Given the description of an element on the screen output the (x, y) to click on. 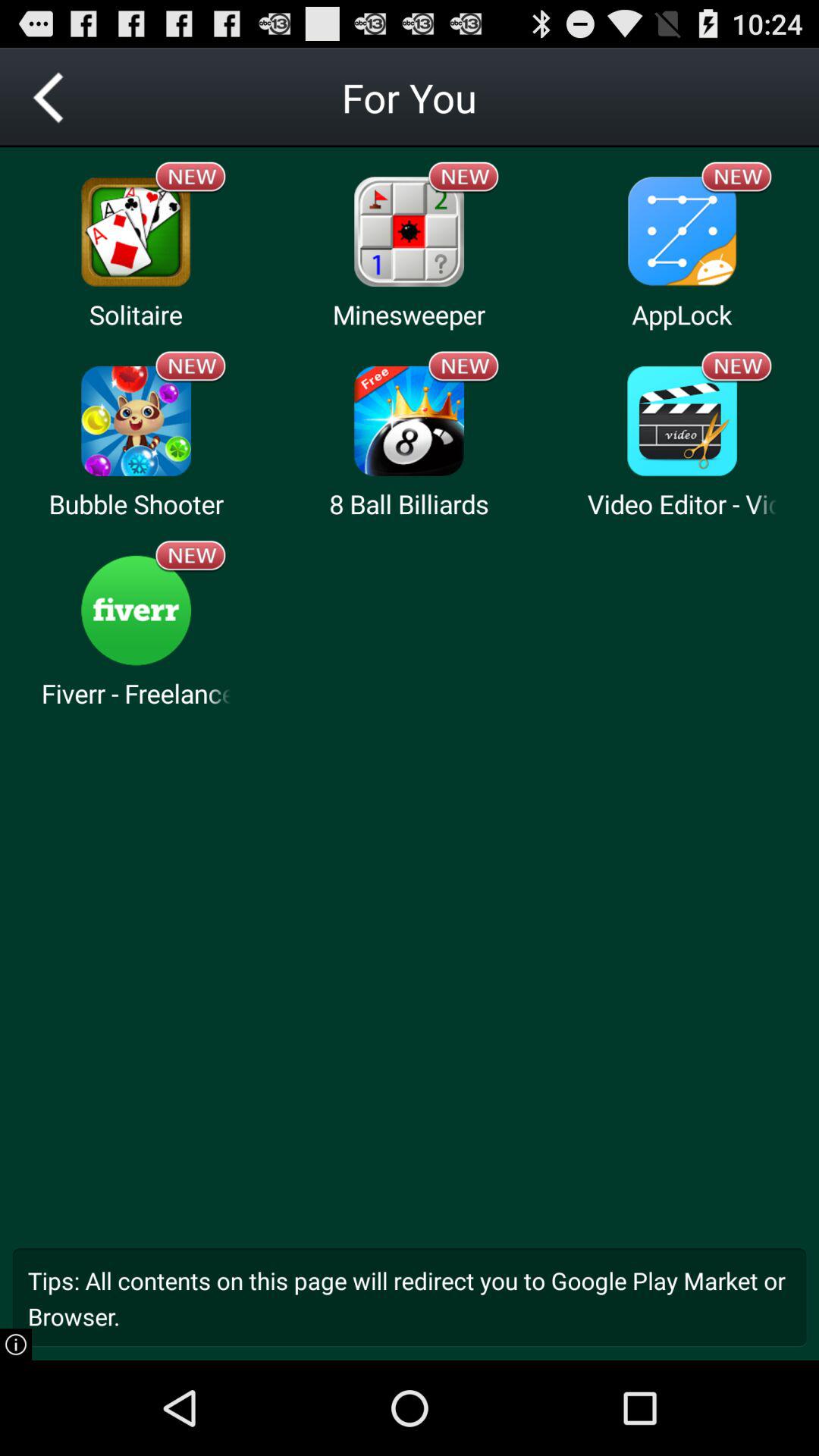
click app above fiverr - freelance services item (190, 556)
